Given the description of an element on the screen output the (x, y) to click on. 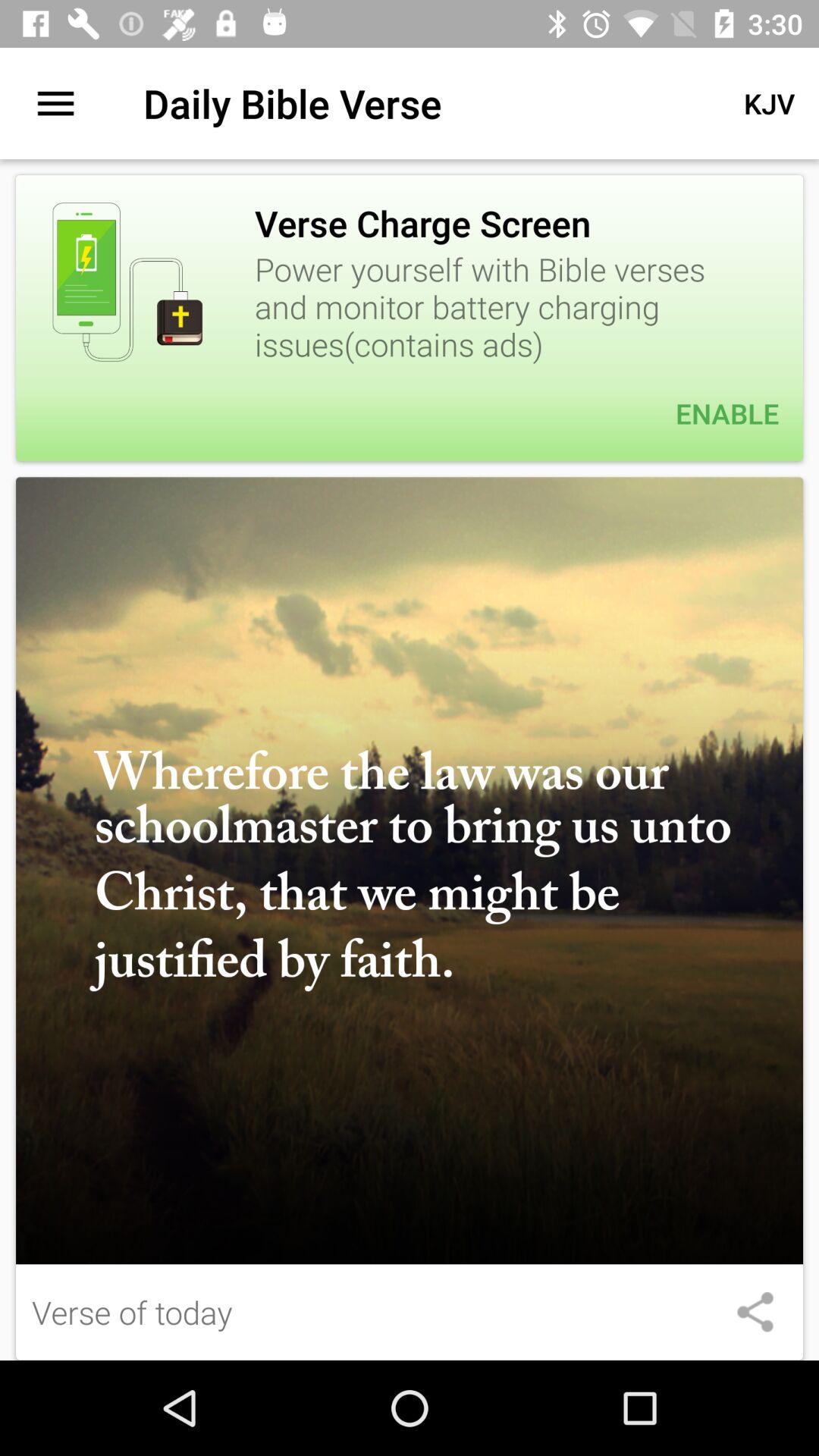
tap icon at the bottom right corner (755, 1311)
